Given the description of an element on the screen output the (x, y) to click on. 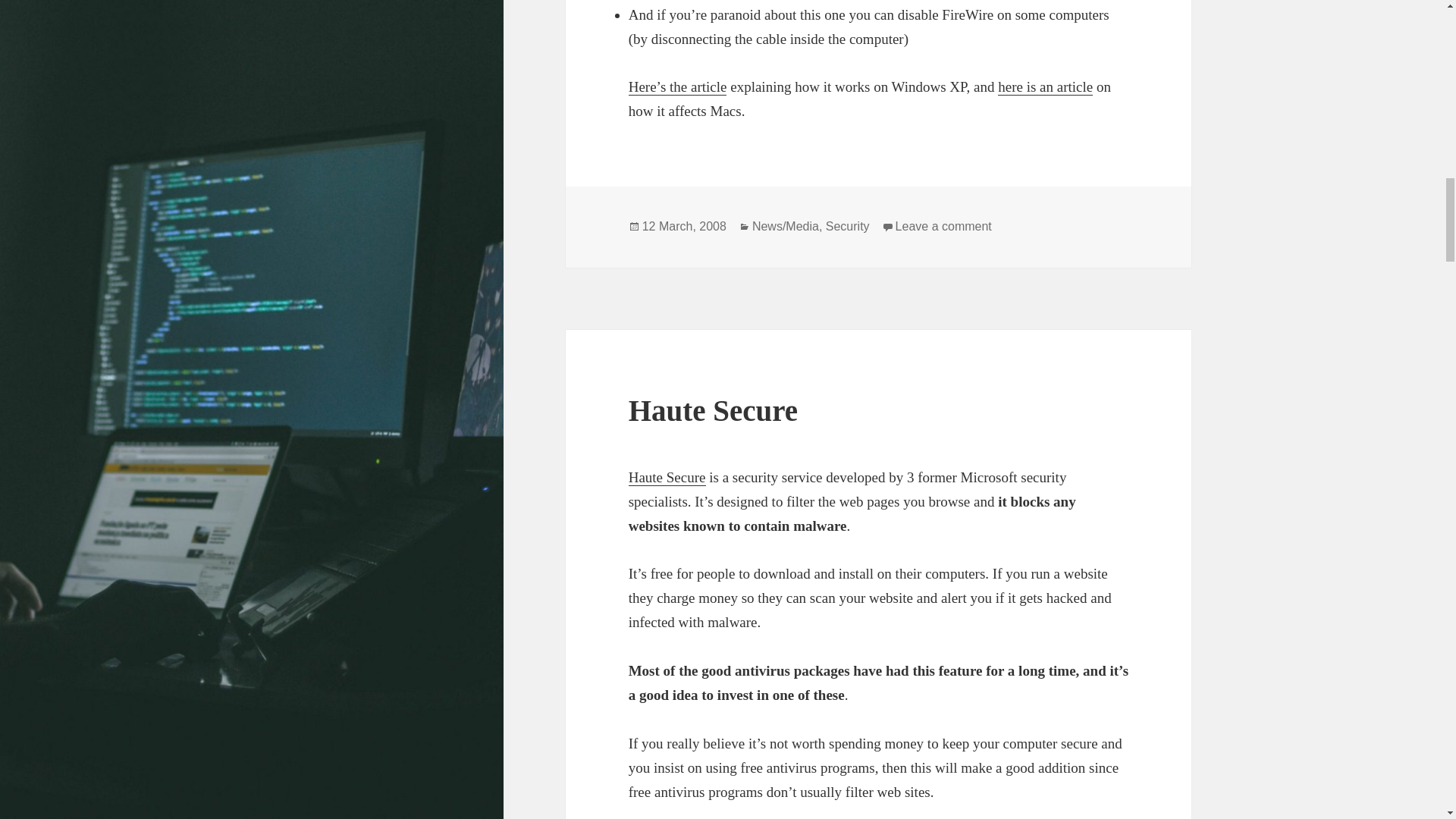
Security (847, 226)
here is an article (1045, 86)
Haute Secure (712, 409)
Crack a Mac with Firewire (1045, 86)
Haute Secure (667, 477)
12 March, 2008 (684, 226)
Haute Secure (667, 477)
Hack into a Windows PC - no password needed (677, 86)
